Given the description of an element on the screen output the (x, y) to click on. 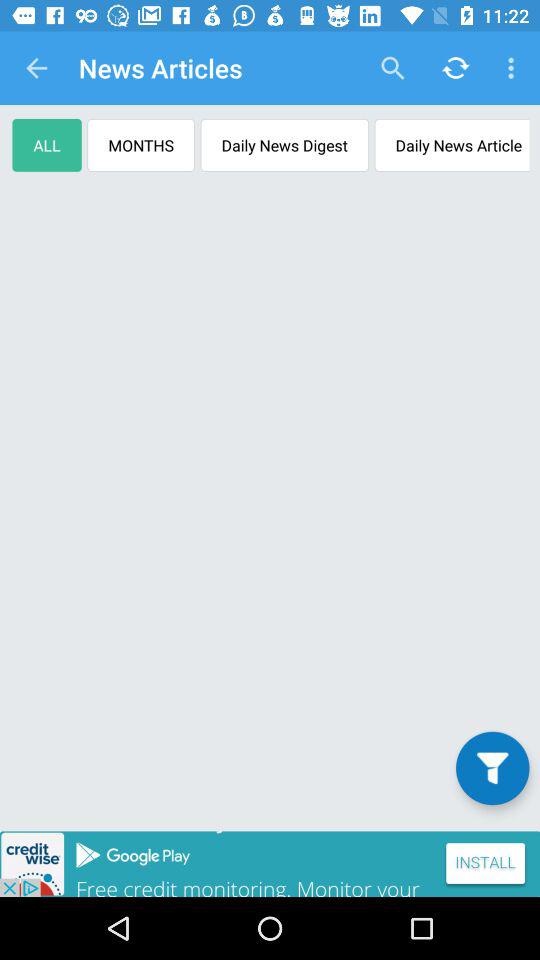
know about the advertisement (270, 864)
